Given the description of an element on the screen output the (x, y) to click on. 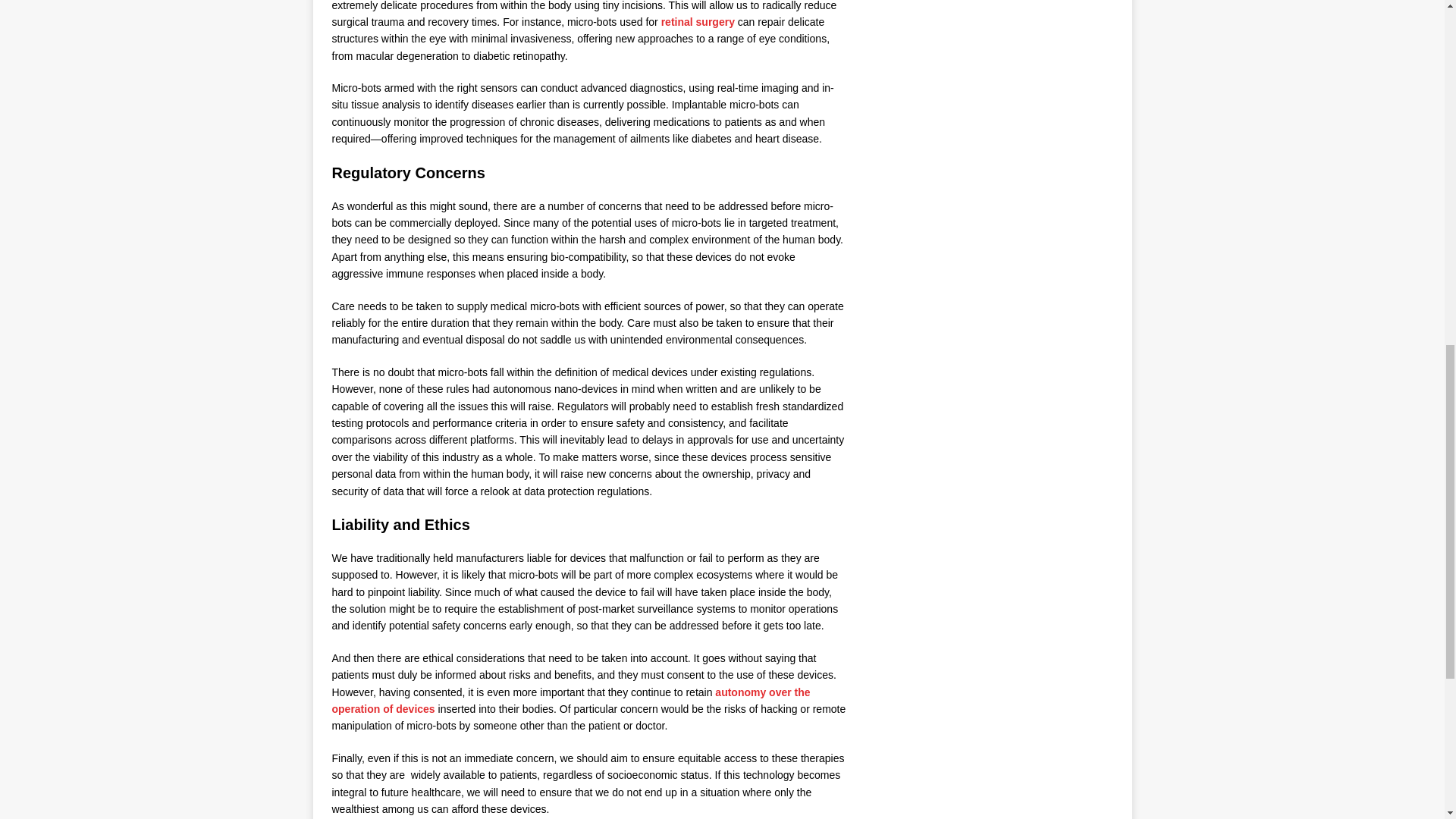
retinal surgery (698, 21)
autonomy over the operation of devices (570, 700)
